Given the description of an element on the screen output the (x, y) to click on. 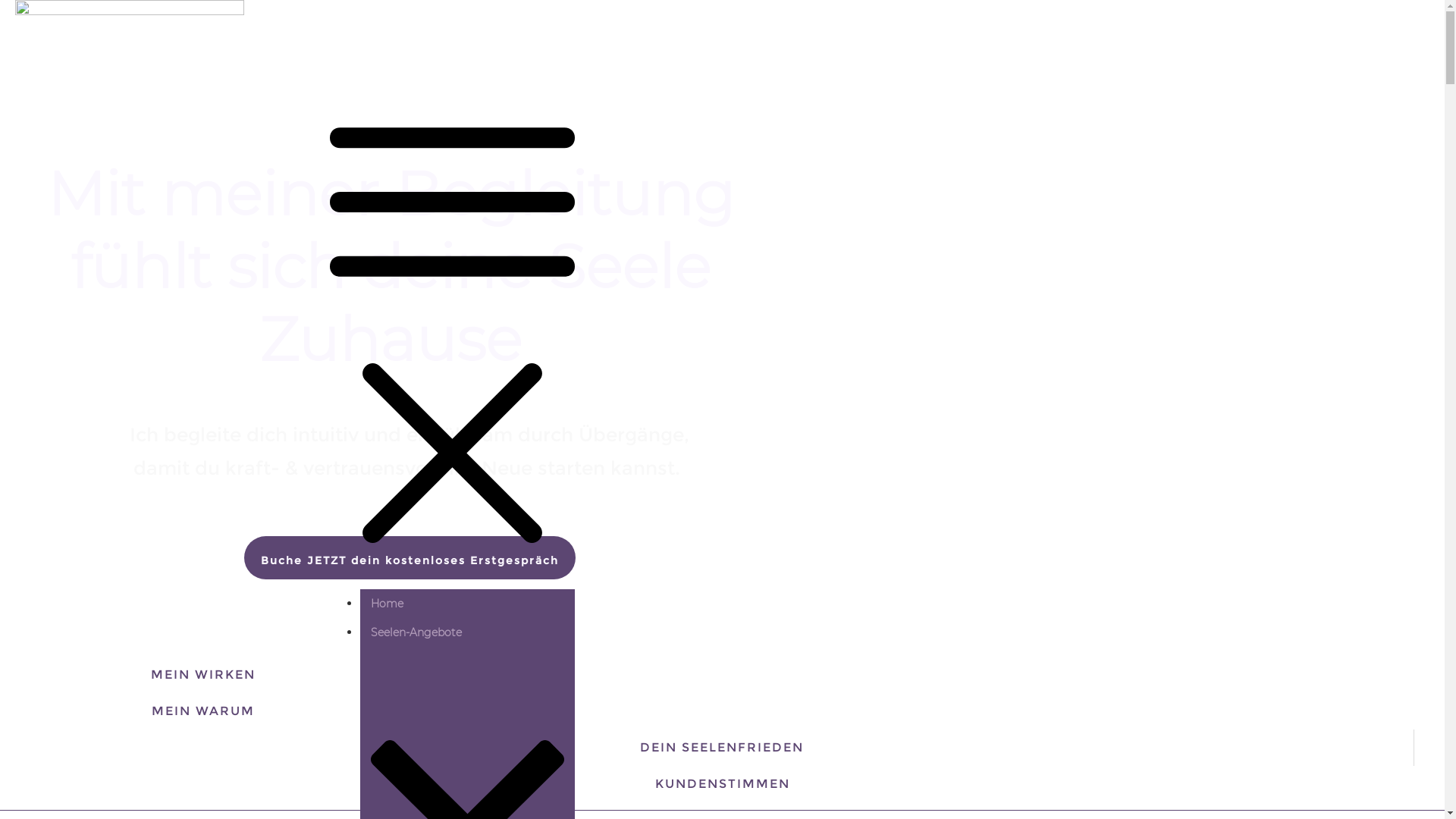
DEIN SEELENFRIEDEN Element type: text (721, 747)
MEIN WARUM Element type: text (202, 710)
KUNDENSTIMMEN Element type: text (722, 783)
Home Element type: text (386, 603)
MEIN WIRKEN Element type: text (202, 674)
